Given the description of an element on the screen output the (x, y) to click on. 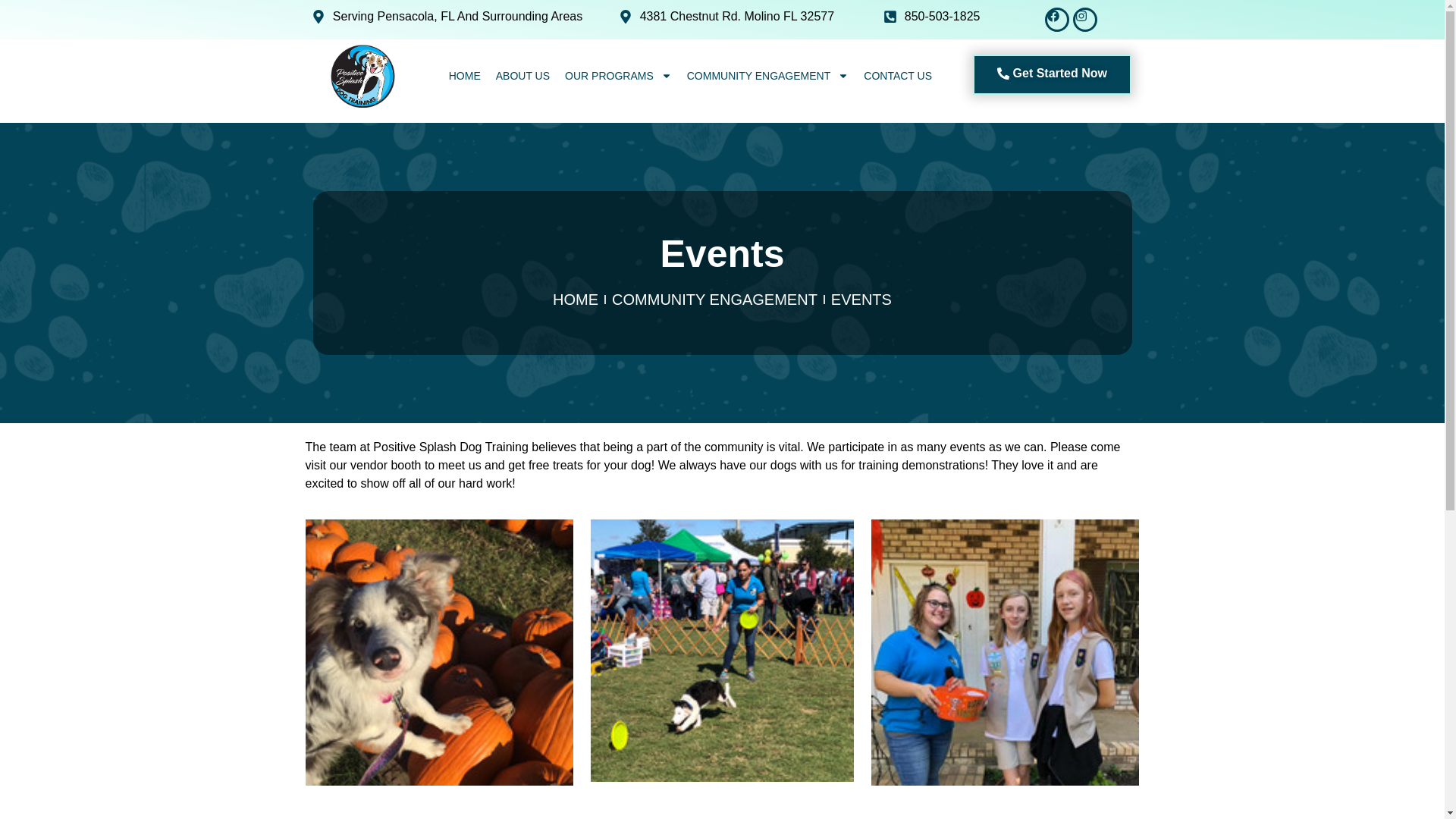
HOME (464, 75)
COMMUNITY ENGAGEMENT (768, 75)
CONTACT US (897, 75)
Get Started Now (1051, 74)
OUR PROGRAMS (618, 75)
ABOUT US (522, 75)
850-503-1825 (913, 16)
